Given the description of an element on the screen output the (x, y) to click on. 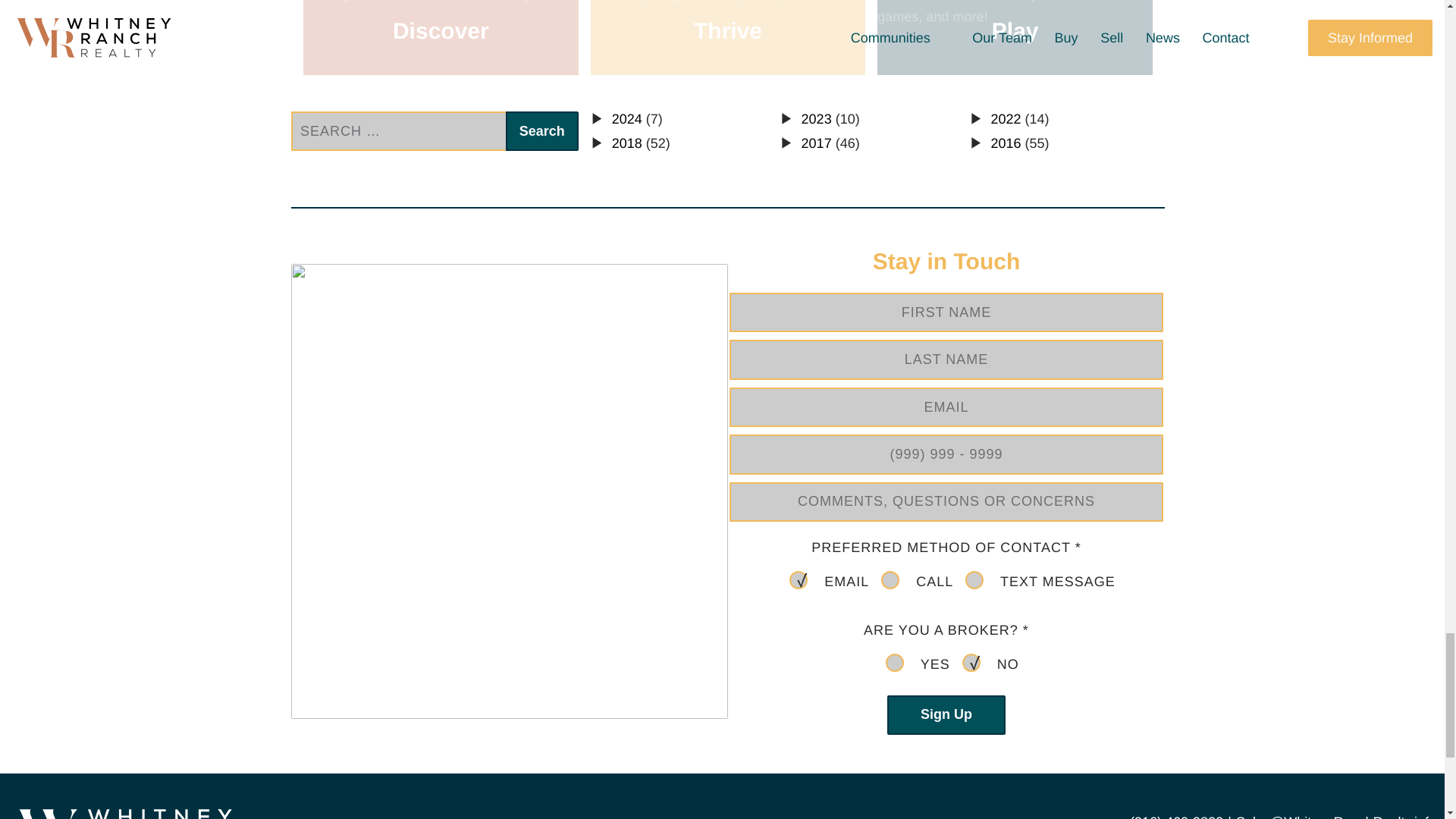
Search (541, 131)
Call Me (889, 579)
WRR Broker (894, 662)
Email Me (798, 579)
WRR Lead (970, 662)
Search (541, 131)
Text Me (974, 579)
